Given the description of an element on the screen output the (x, y) to click on. 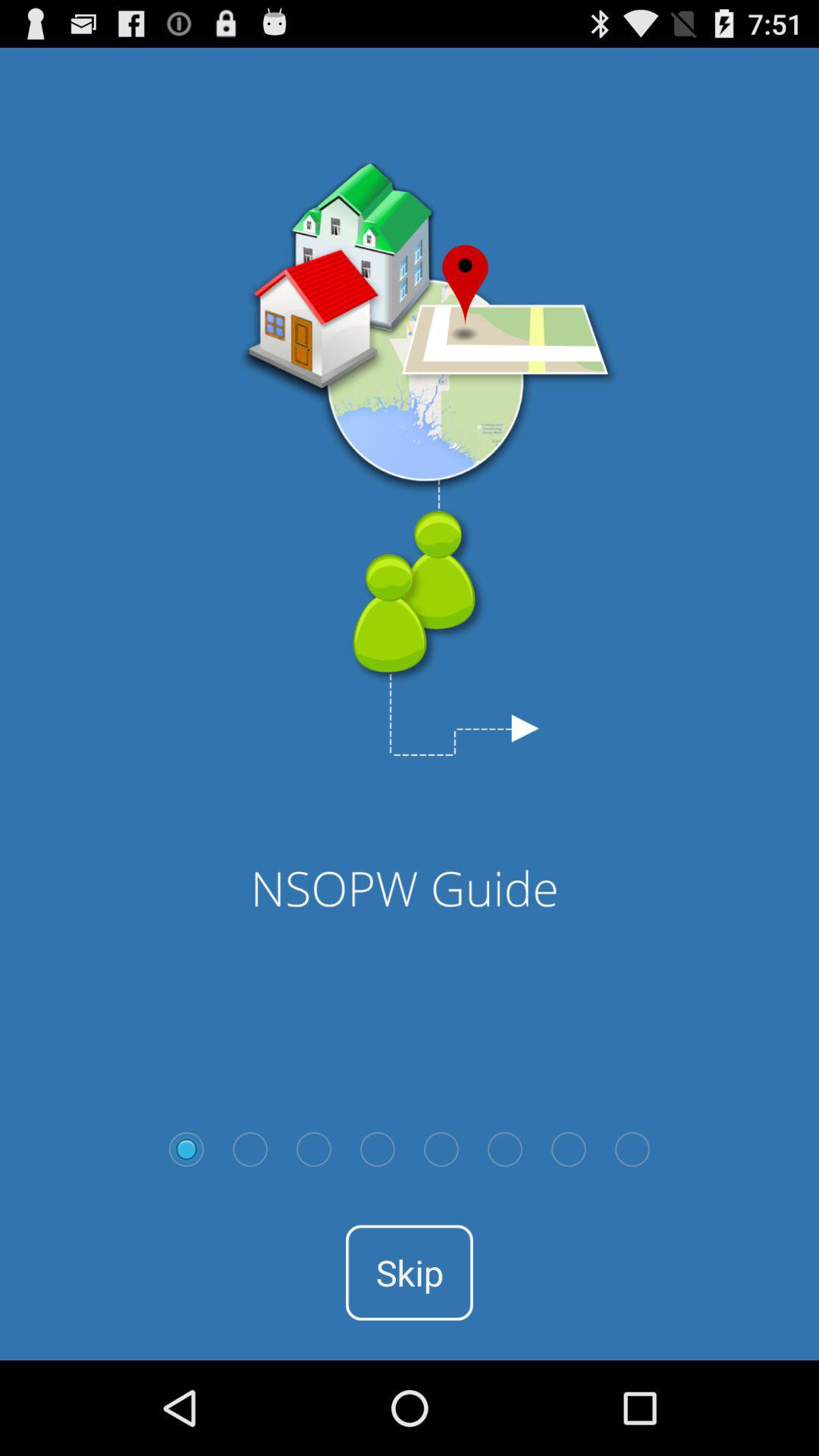
move to the next page (250, 1149)
